Given the description of an element on the screen output the (x, y) to click on. 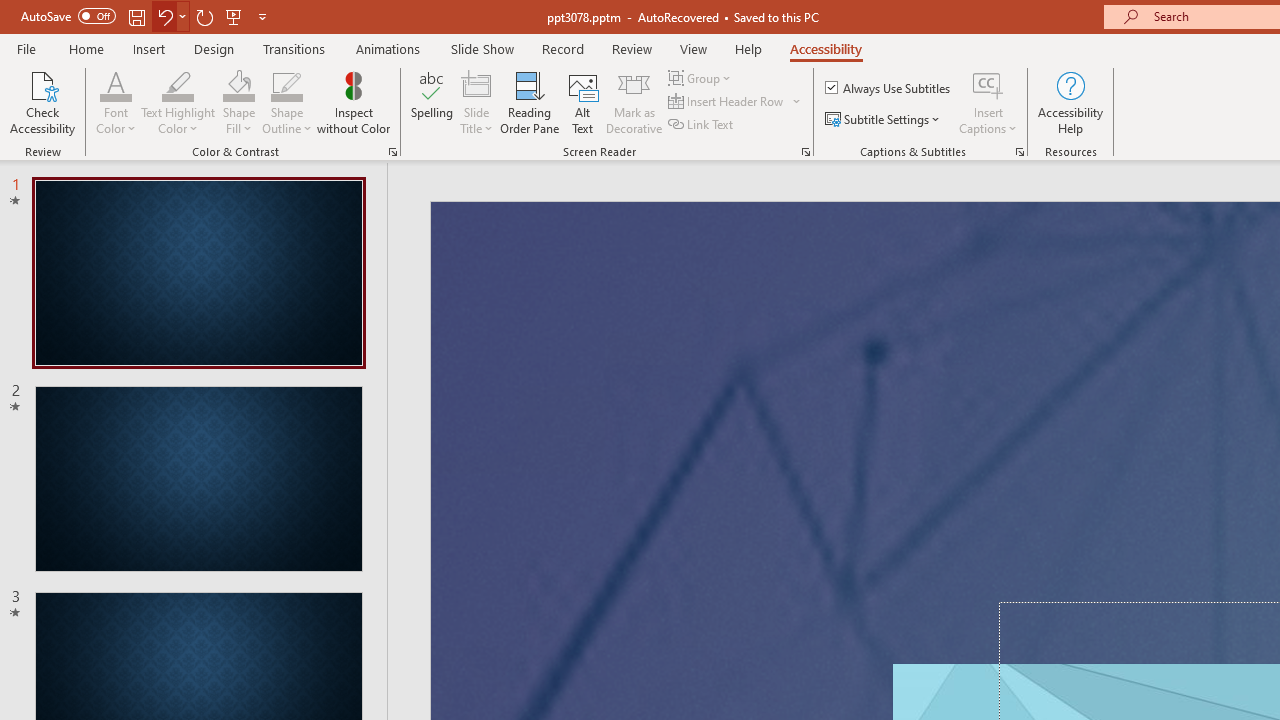
Mark as Decorative (634, 102)
Screen Reader (805, 151)
